Given the description of an element on the screen output the (x, y) to click on. 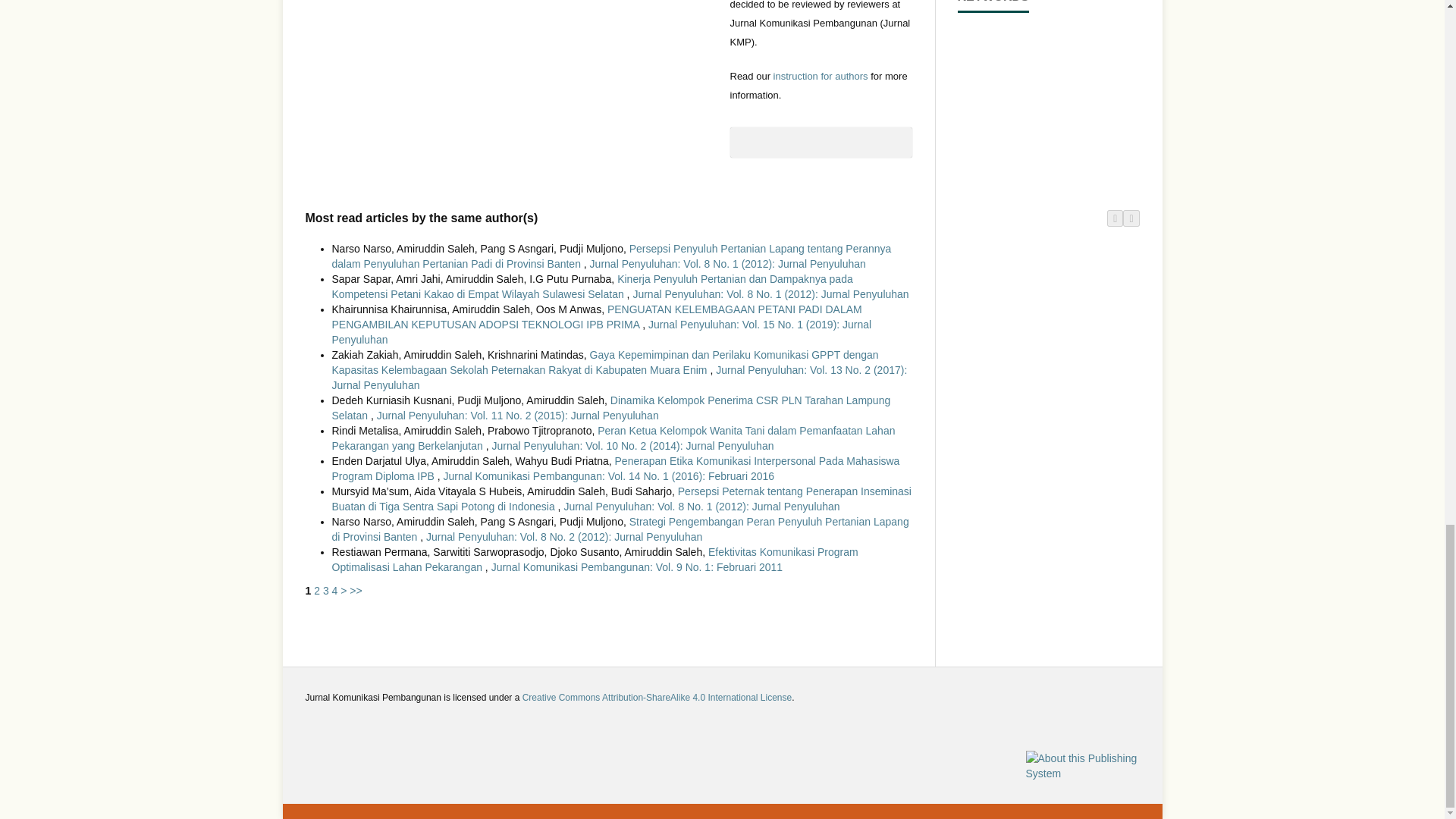
instruction for authors (820, 75)
instruction for authors (820, 75)
CC (657, 697)
